Given the description of an element on the screen output the (x, y) to click on. 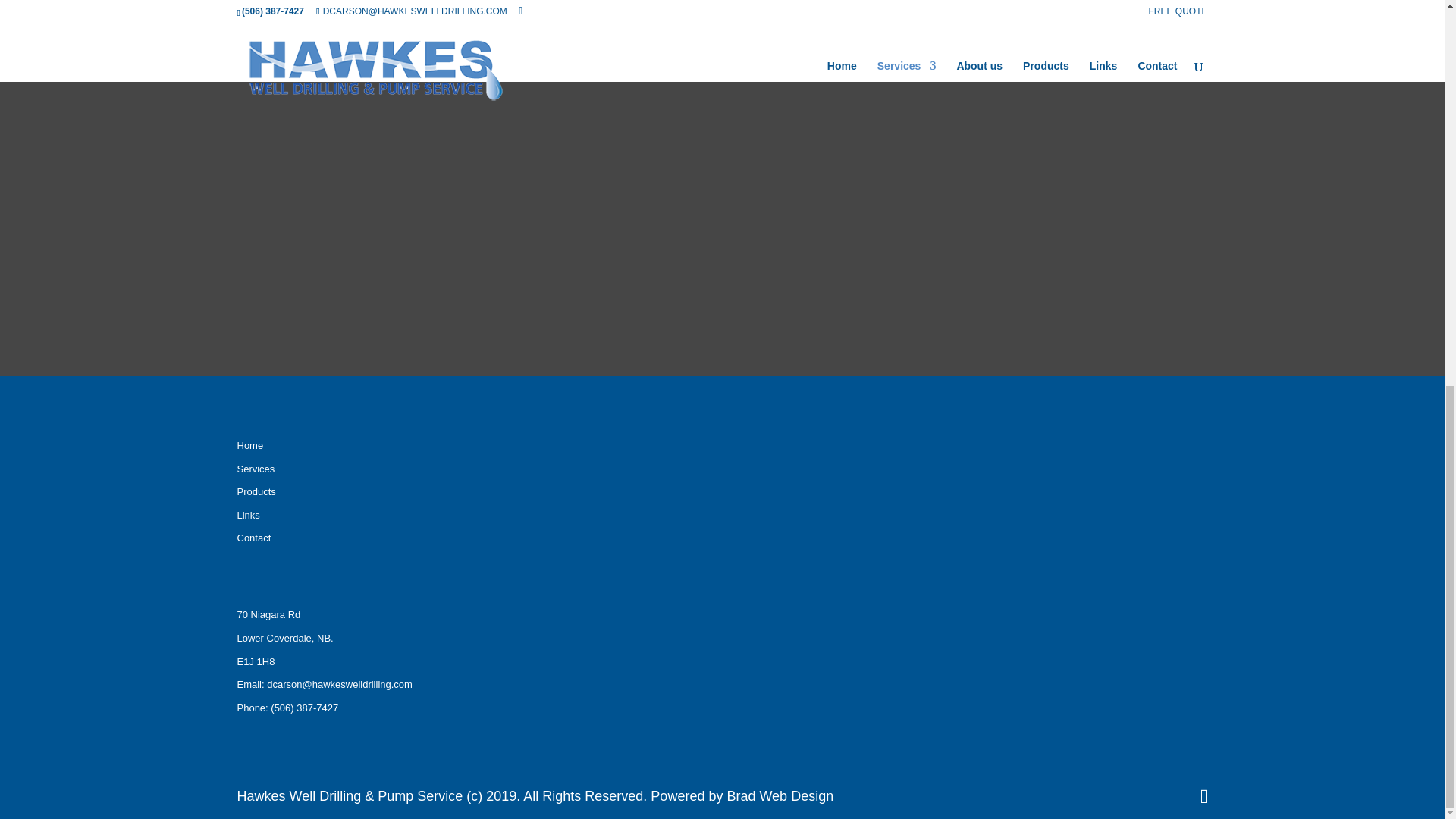
Links (247, 514)
Services (255, 469)
Contact (252, 537)
Products (255, 491)
Home (249, 445)
